Given the description of an element on the screen output the (x, y) to click on. 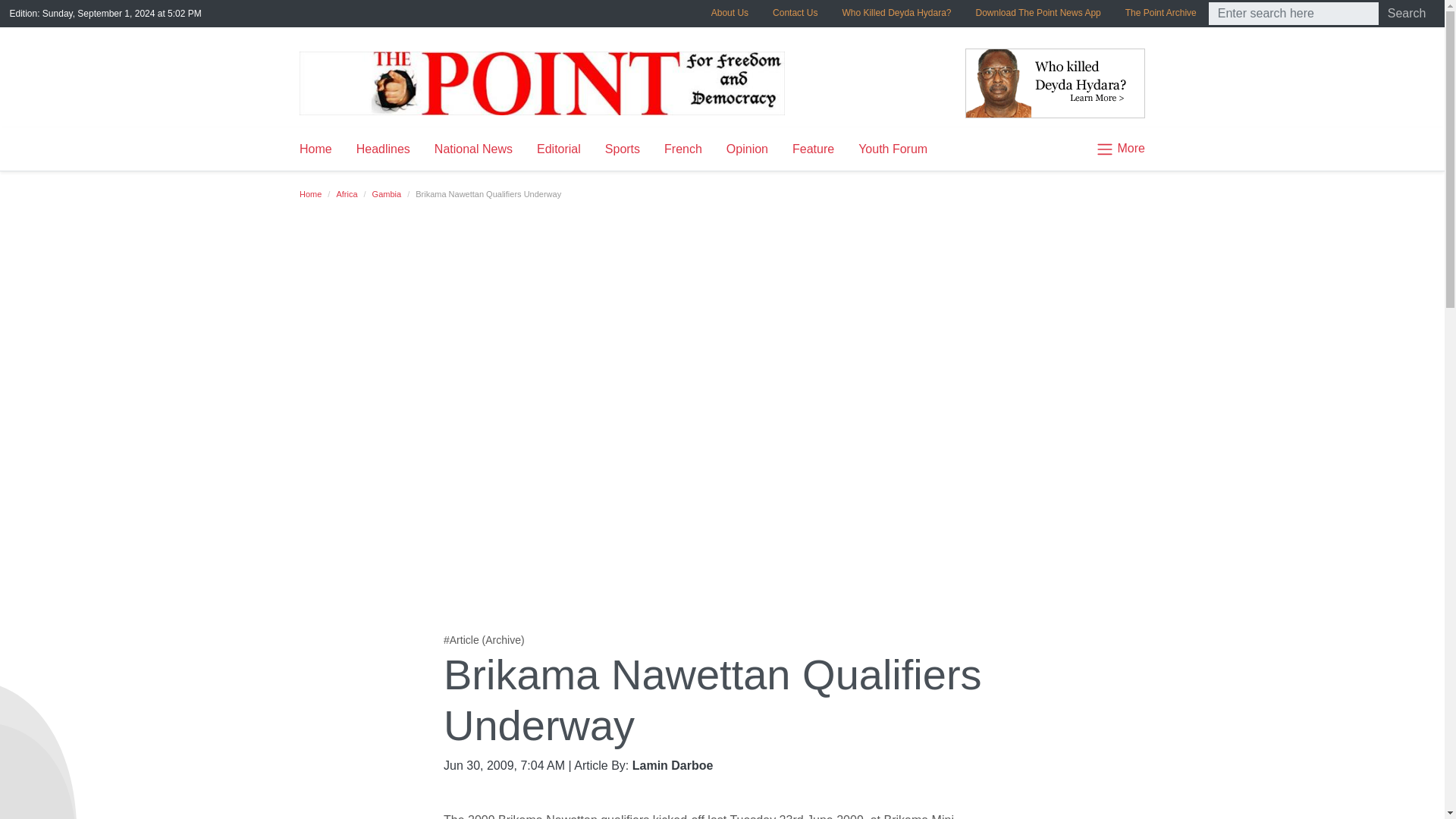
About Us (729, 12)
The Point Archive (1160, 12)
Search (1406, 13)
Opinion (747, 149)
More (1113, 148)
Sports (622, 149)
French (683, 149)
Contact Us (794, 12)
Home (310, 194)
